Given the description of an element on the screen output the (x, y) to click on. 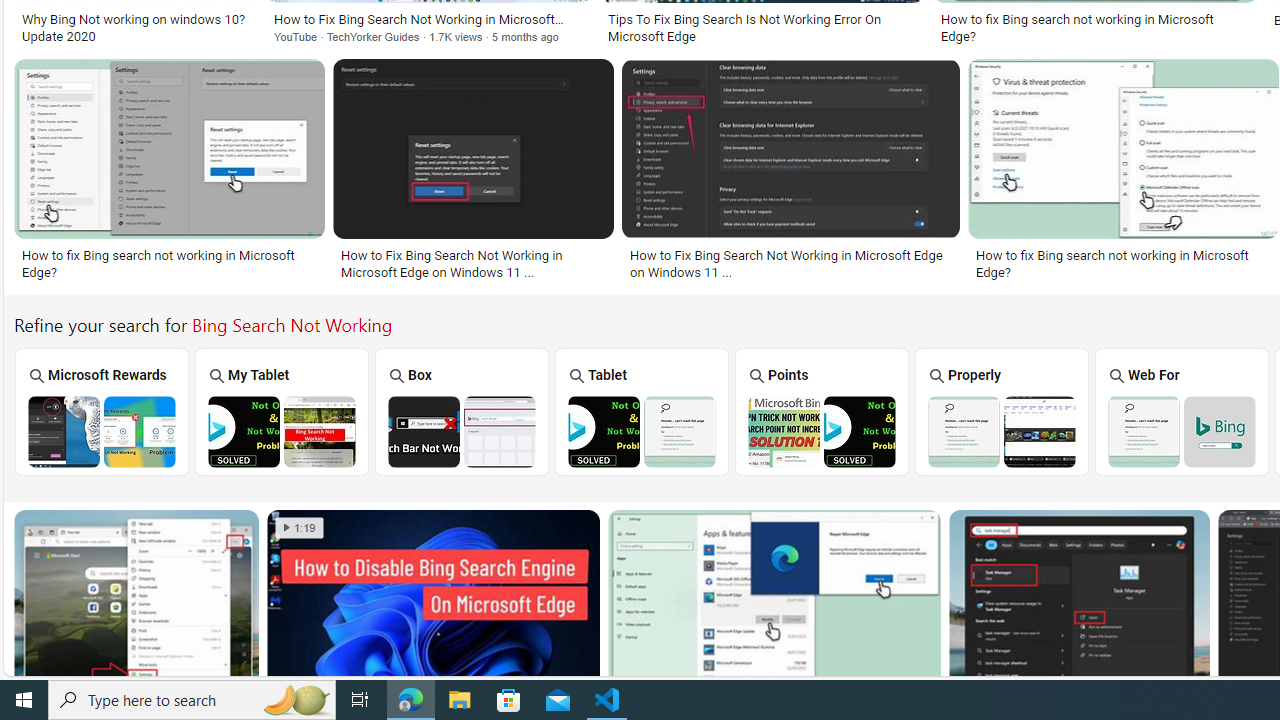
Box (461, 411)
Why Bing Not working on windows 10? Update 2020 (135, 27)
Bing Search Not Working On My Tablet (281, 431)
Bing Search the Web for Image Not Working Web For (1181, 411)
Web For (1181, 411)
